Given the description of an element on the screen output the (x, y) to click on. 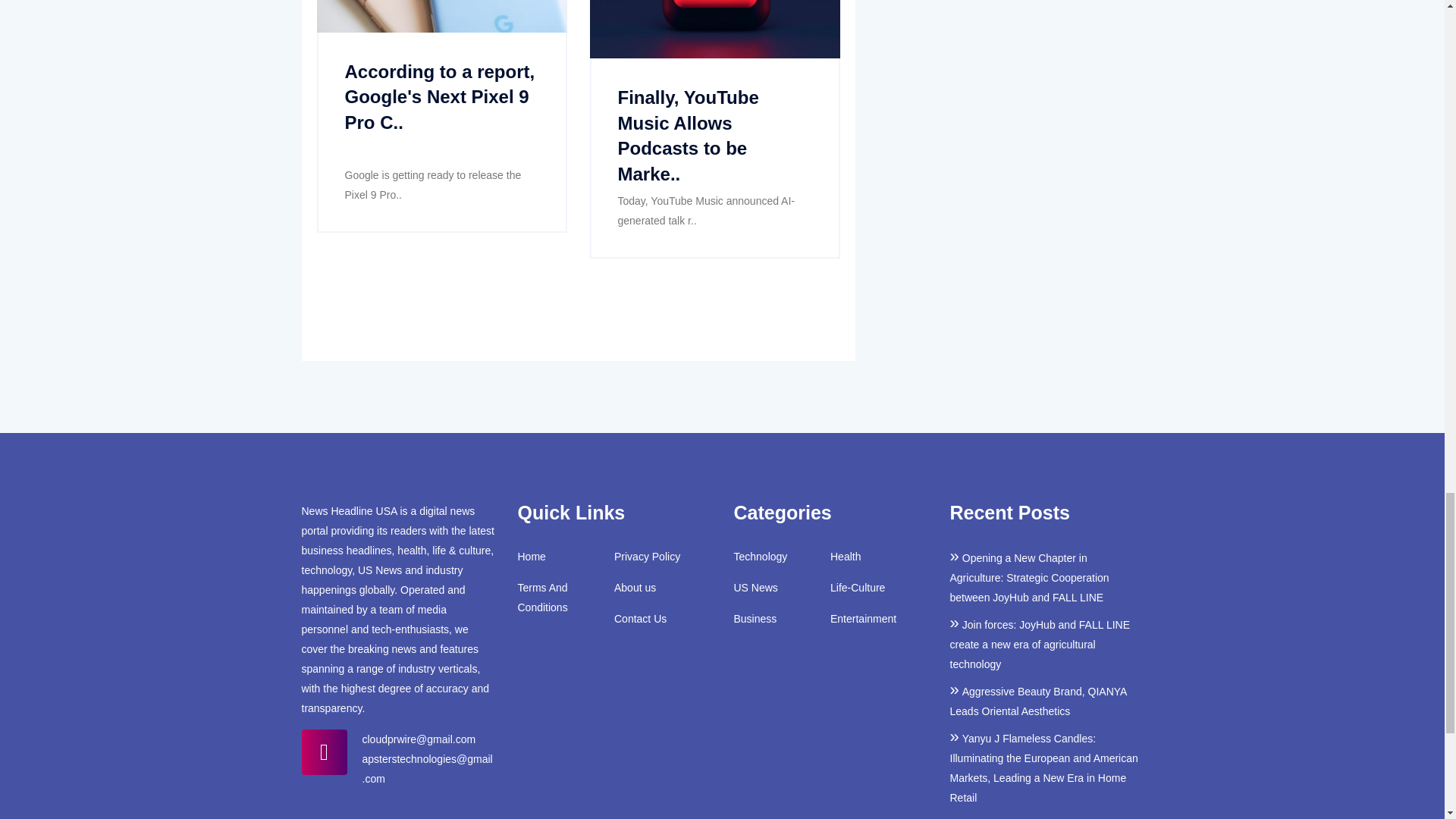
Finally, YouTube Music Allows Podcasts to be Marke.. (687, 135)
According to a report, Google's Next Pixel 9 Pro C.. (438, 96)
Home (530, 556)
